Given the description of an element on the screen output the (x, y) to click on. 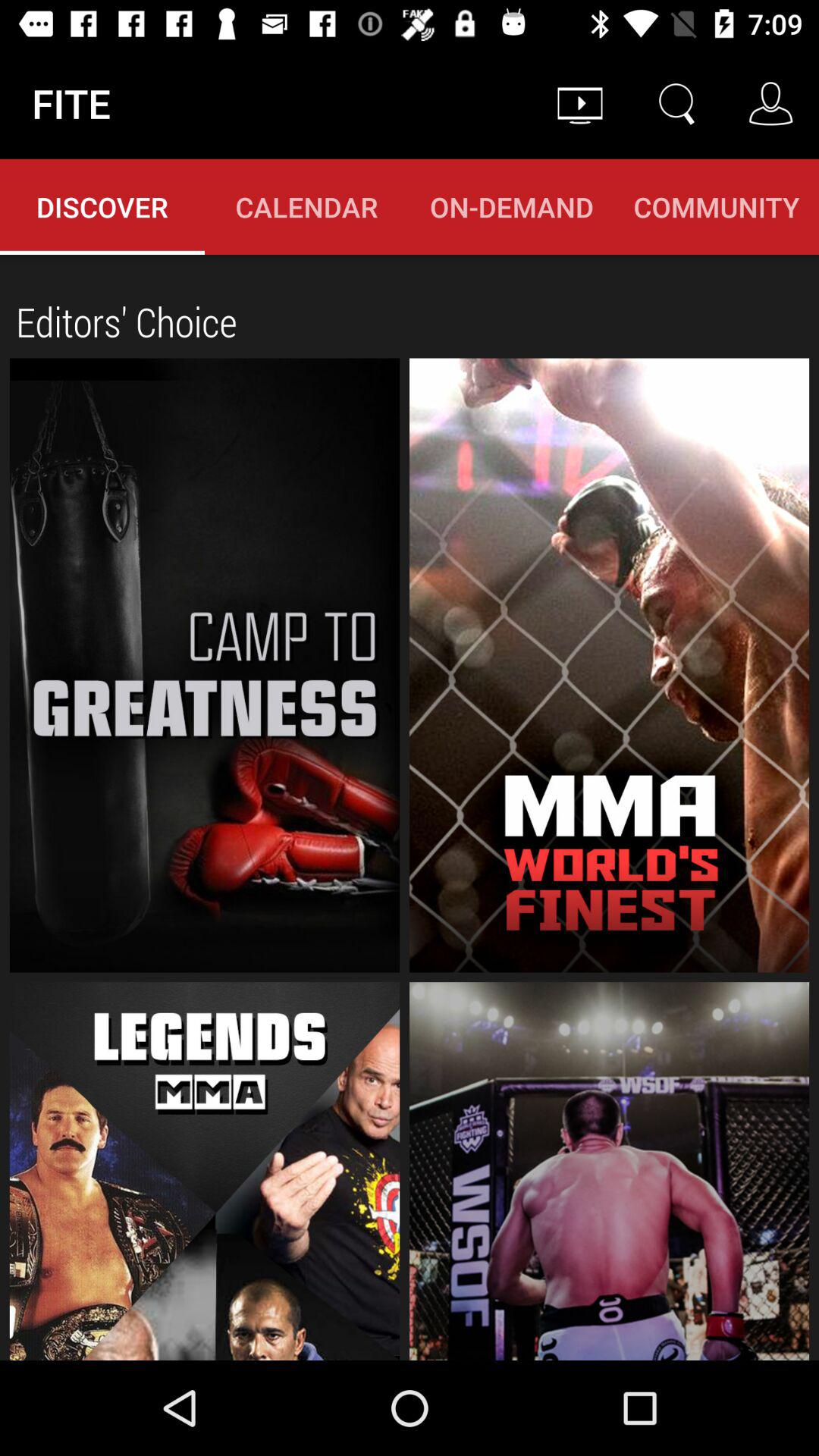
fitness catogries (204, 665)
